Given the description of an element on the screen output the (x, y) to click on. 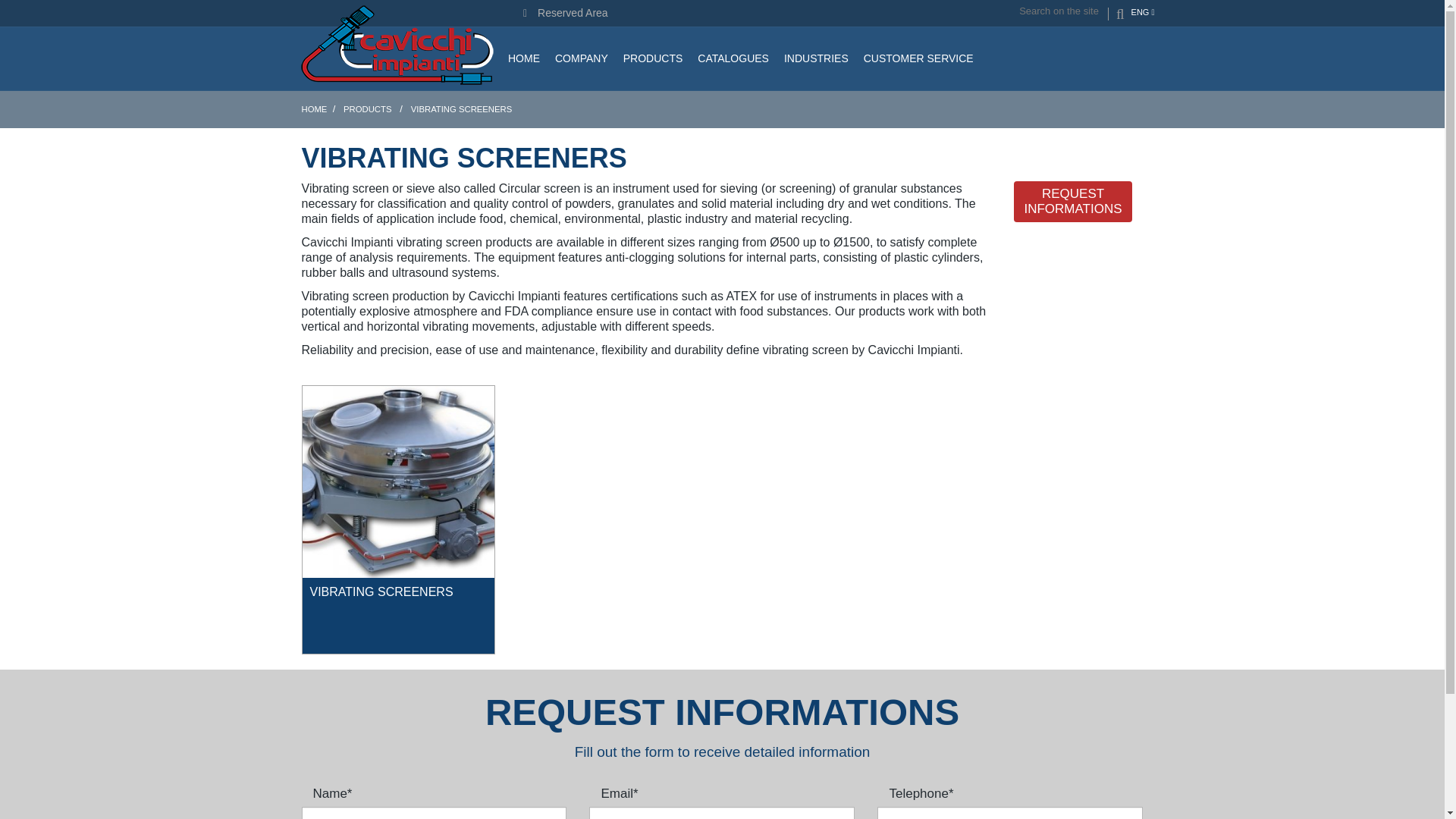
INDUSTRIES (816, 58)
Vibrovagli (397, 481)
REQUEST INFORMATIONS (1072, 200)
PRODUCTS (368, 108)
CUSTOMER SERVICE (918, 58)
Reserved Area (565, 12)
Cavicchi Impianti srl (397, 44)
CATALOGUES (733, 58)
PRODUCTS (652, 58)
HOME (314, 108)
